Given the description of an element on the screen output the (x, y) to click on. 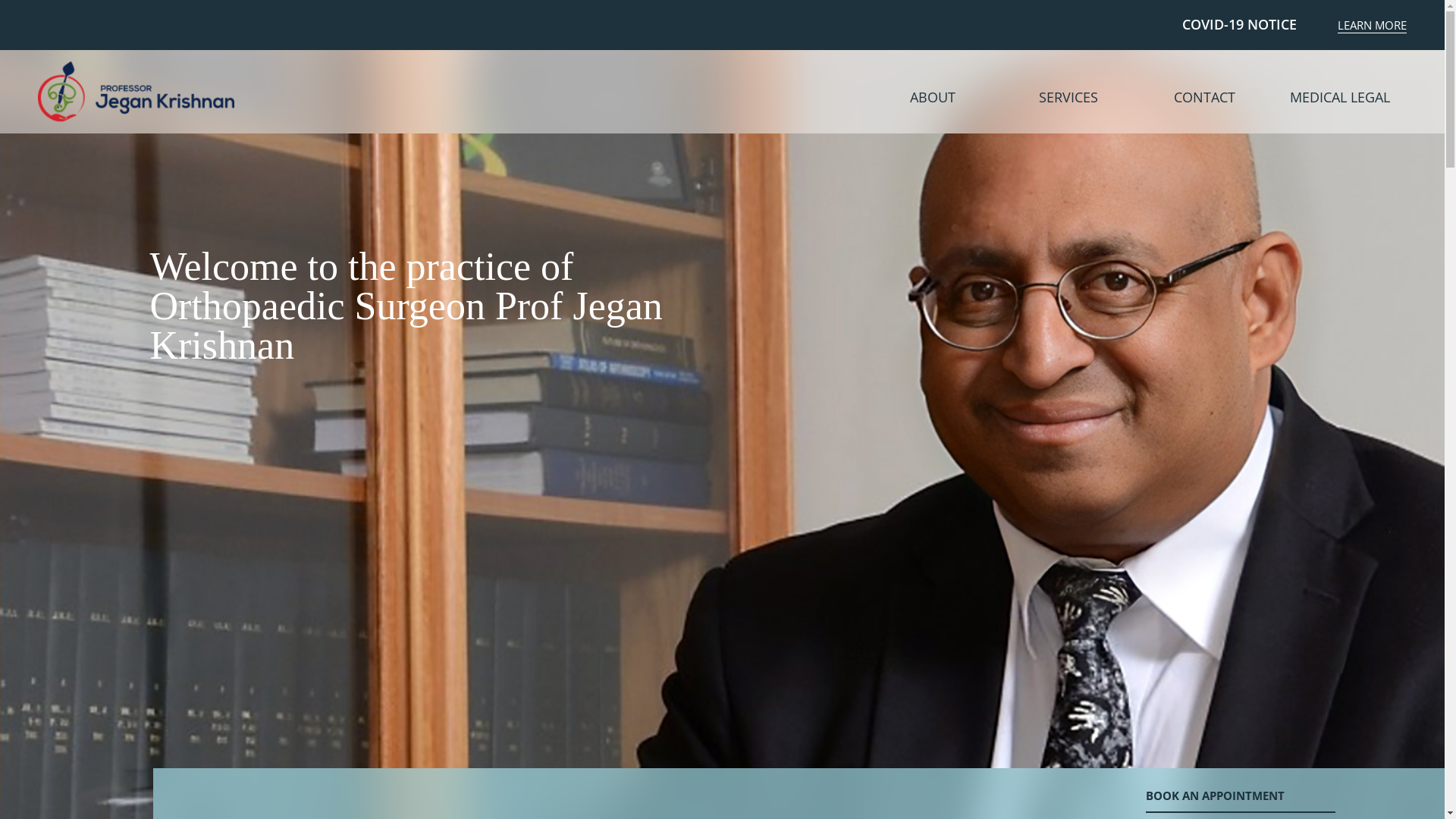
BOOK AN APPOINTMENT Element type: text (1240, 798)
ABOUT Element type: text (932, 96)
SERVICES Element type: text (1068, 96)
MEDICAL LEGAL Element type: text (1340, 96)
LEARN MORE Element type: text (1371, 25)
CONTACT Element type: text (1204, 96)
